Given the description of an element on the screen output the (x, y) to click on. 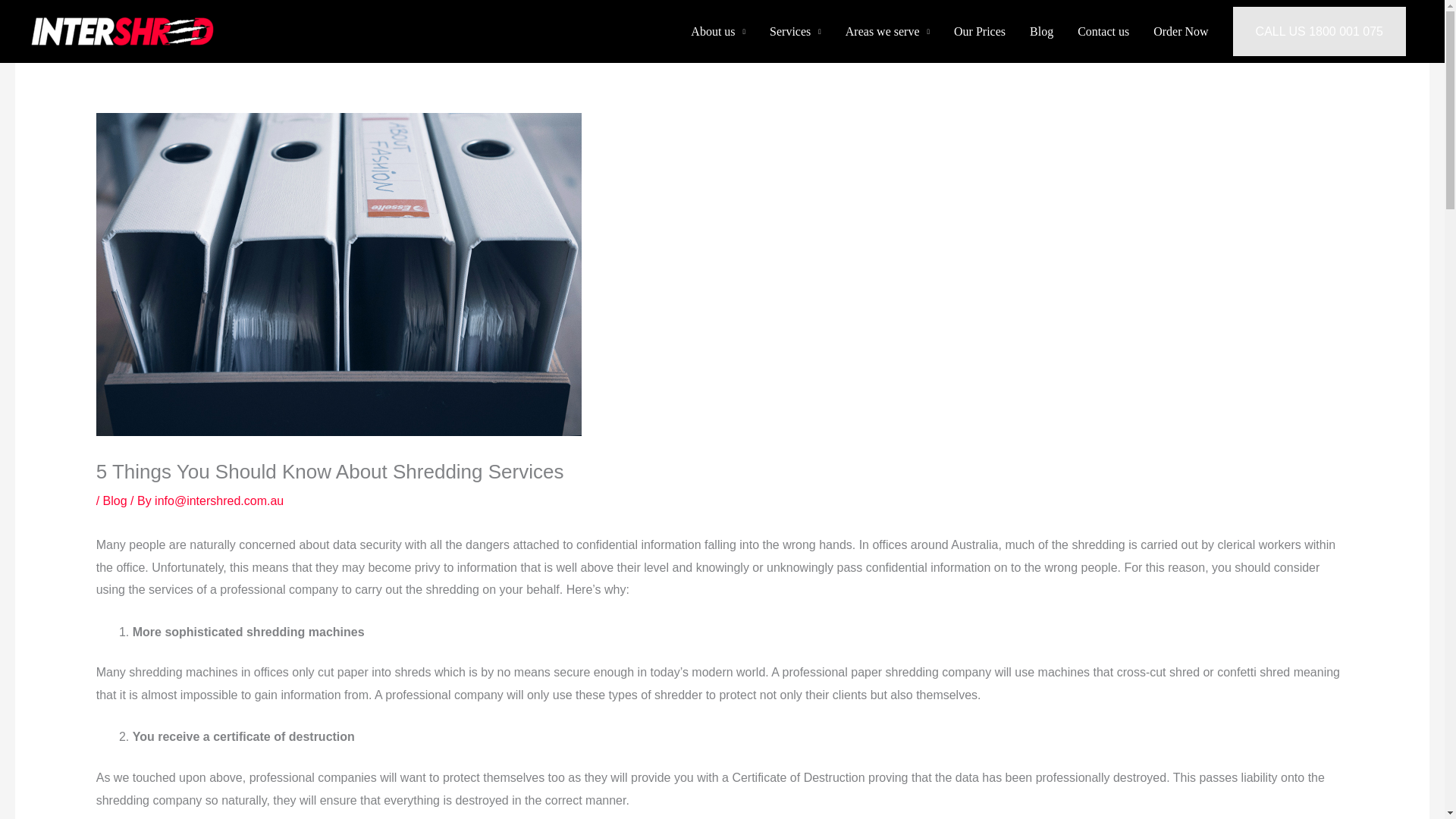
Contact us (1103, 31)
About us (717, 31)
Blog (1041, 31)
Areas we serve (887, 31)
Services (794, 31)
Order Now (1180, 31)
CALL US 1800 001 075 (1319, 31)
Blog (115, 500)
Our Prices (979, 31)
